Given the description of an element on the screen output the (x, y) to click on. 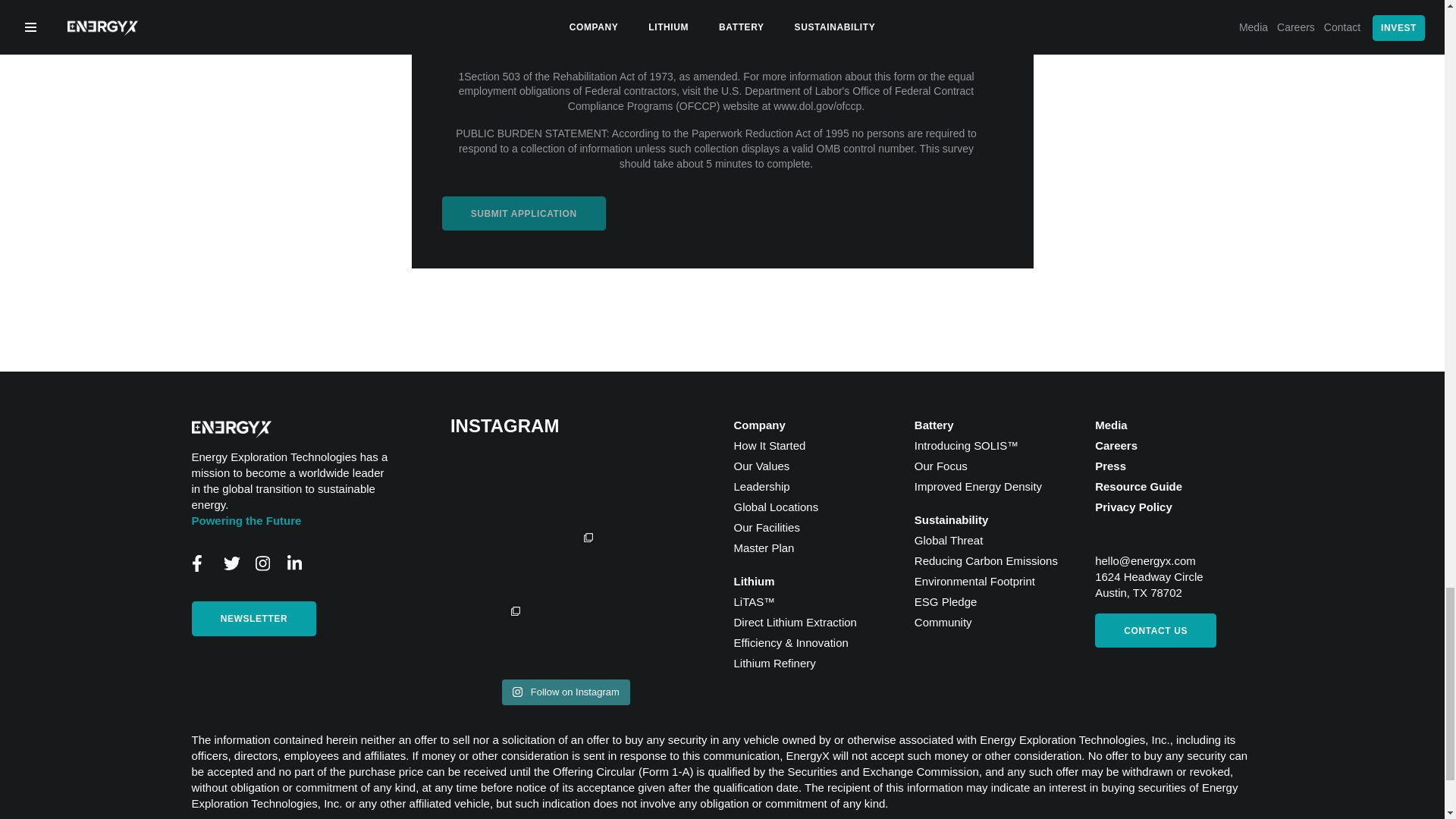
Submit Application (523, 213)
